Given the description of an element on the screen output the (x, y) to click on. 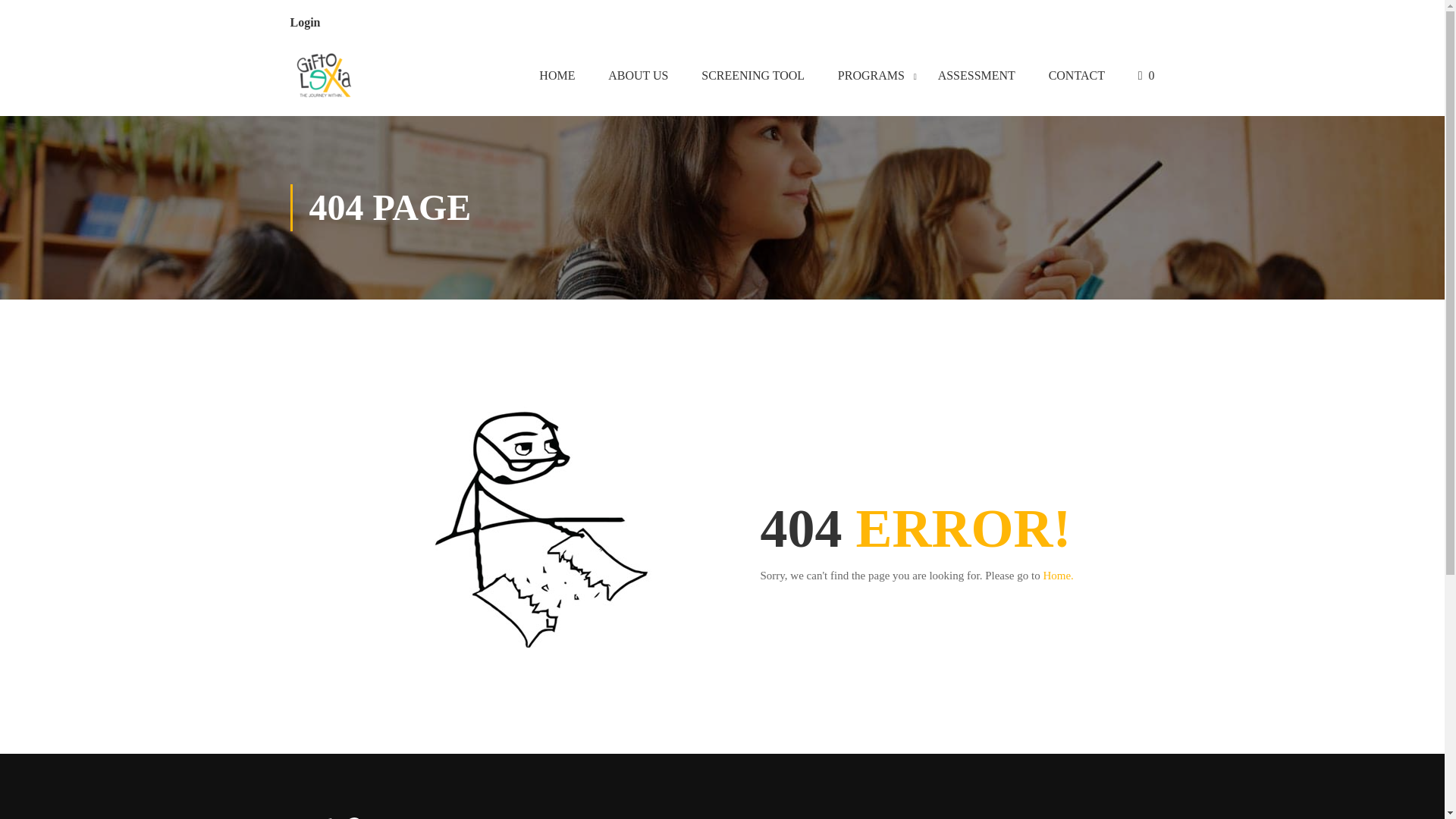
0 (1146, 78)
ASSESSMENT (976, 78)
ABOUT US (637, 78)
Home. (1057, 575)
SCREENING TOOL (752, 78)
HOME (556, 78)
CONTACT (1076, 78)
Login (304, 21)
Giftolexia - About Giftolexia (323, 78)
PROGRAMS (871, 78)
